Given the description of an element on the screen output the (x, y) to click on. 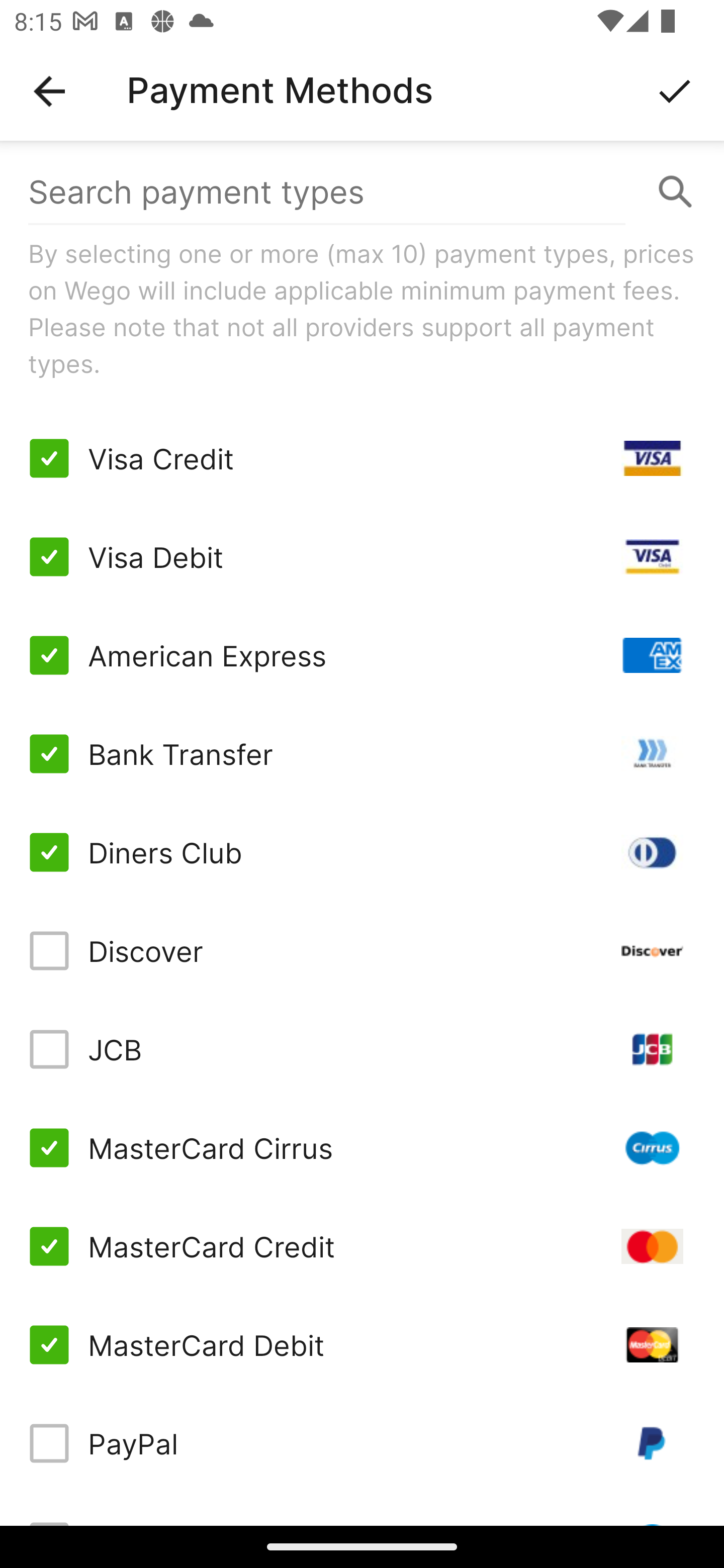
Search payment types  (361, 191)
Visa Credit (362, 458)
Visa Debit (362, 557)
American Express (362, 655)
Bank Transfer (362, 753)
Diners Club (362, 851)
Discover (362, 950)
JCB (362, 1049)
MasterCard Cirrus (362, 1147)
MasterCard Credit (362, 1245)
MasterCard Debit (362, 1344)
PayPal (362, 1442)
